Given the description of an element on the screen output the (x, y) to click on. 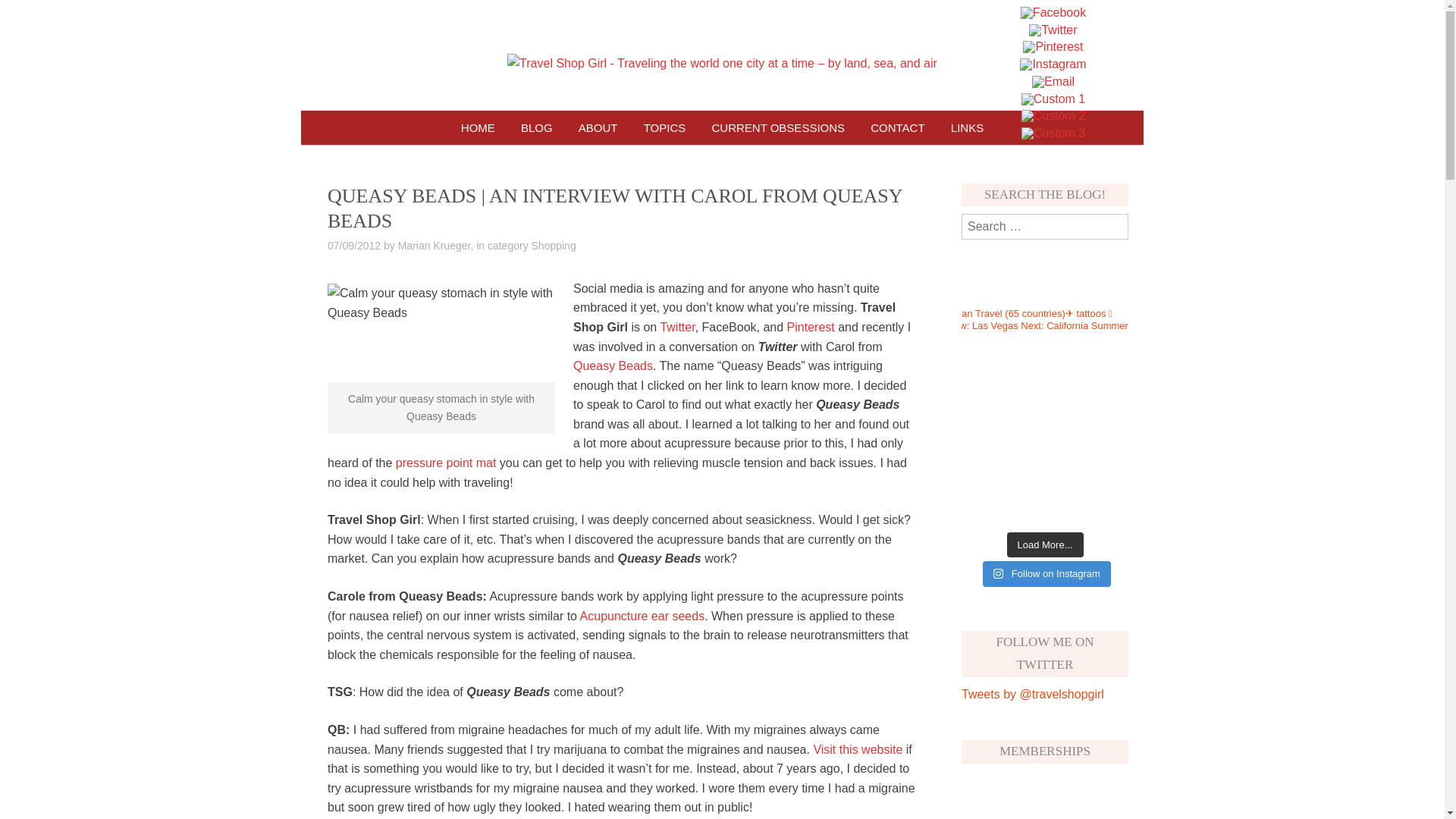
BLOG (536, 127)
HOME (477, 127)
ABOUT (597, 127)
CURRENT OBSESSIONS (778, 127)
CONTACT (897, 127)
TOPICS (664, 127)
